Given the description of an element on the screen output the (x, y) to click on. 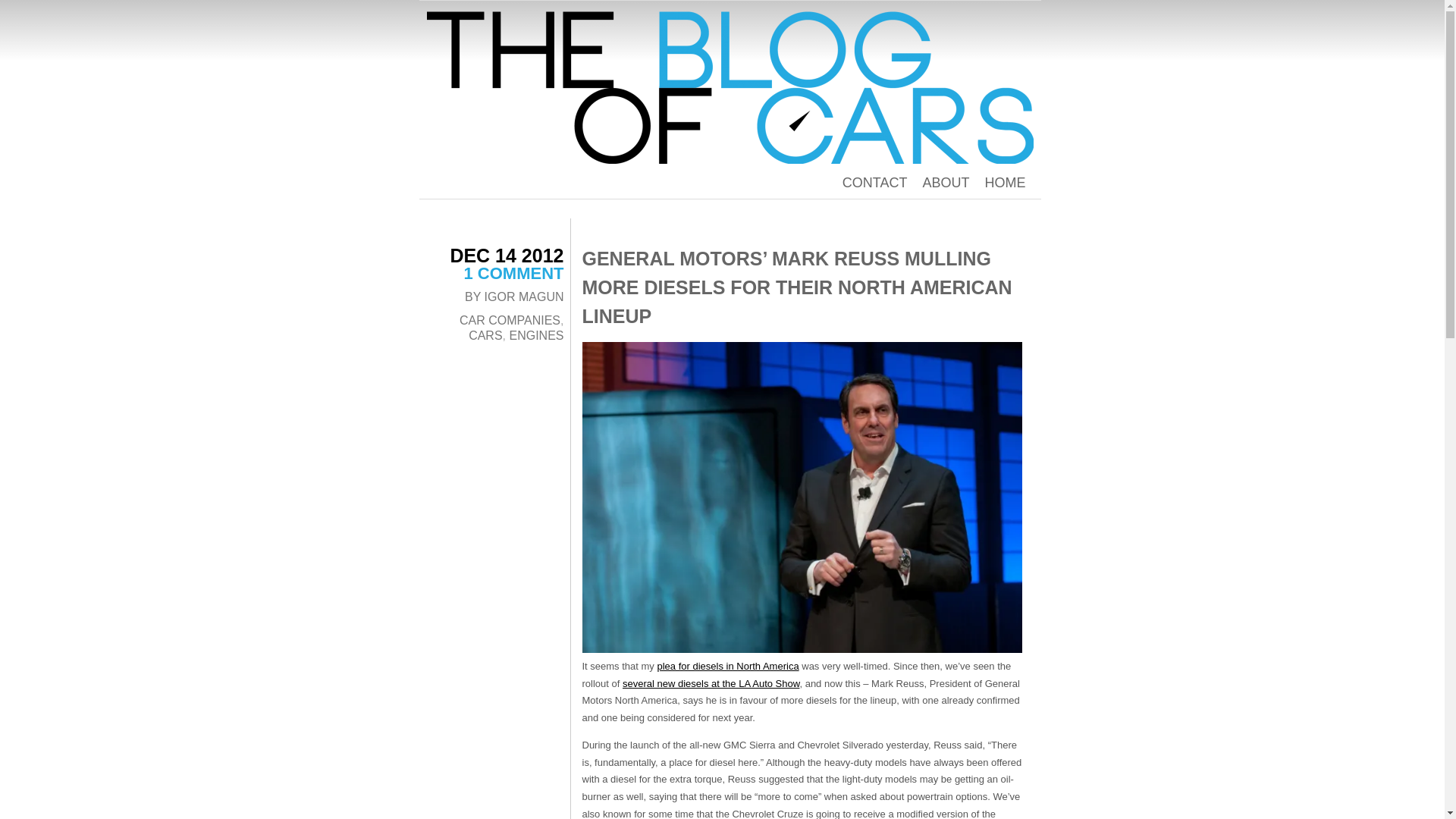
ENGINES (535, 335)
HOME (1004, 182)
ABOUT (945, 182)
CONTACT (875, 182)
several new diesels at the LA Auto Show (711, 683)
DEC 14 2012 (506, 255)
CAR COMPANIES (510, 319)
1 COMMENT (514, 272)
CARS (485, 335)
plea for diesels in North America (726, 665)
